Given the description of an element on the screen output the (x, y) to click on. 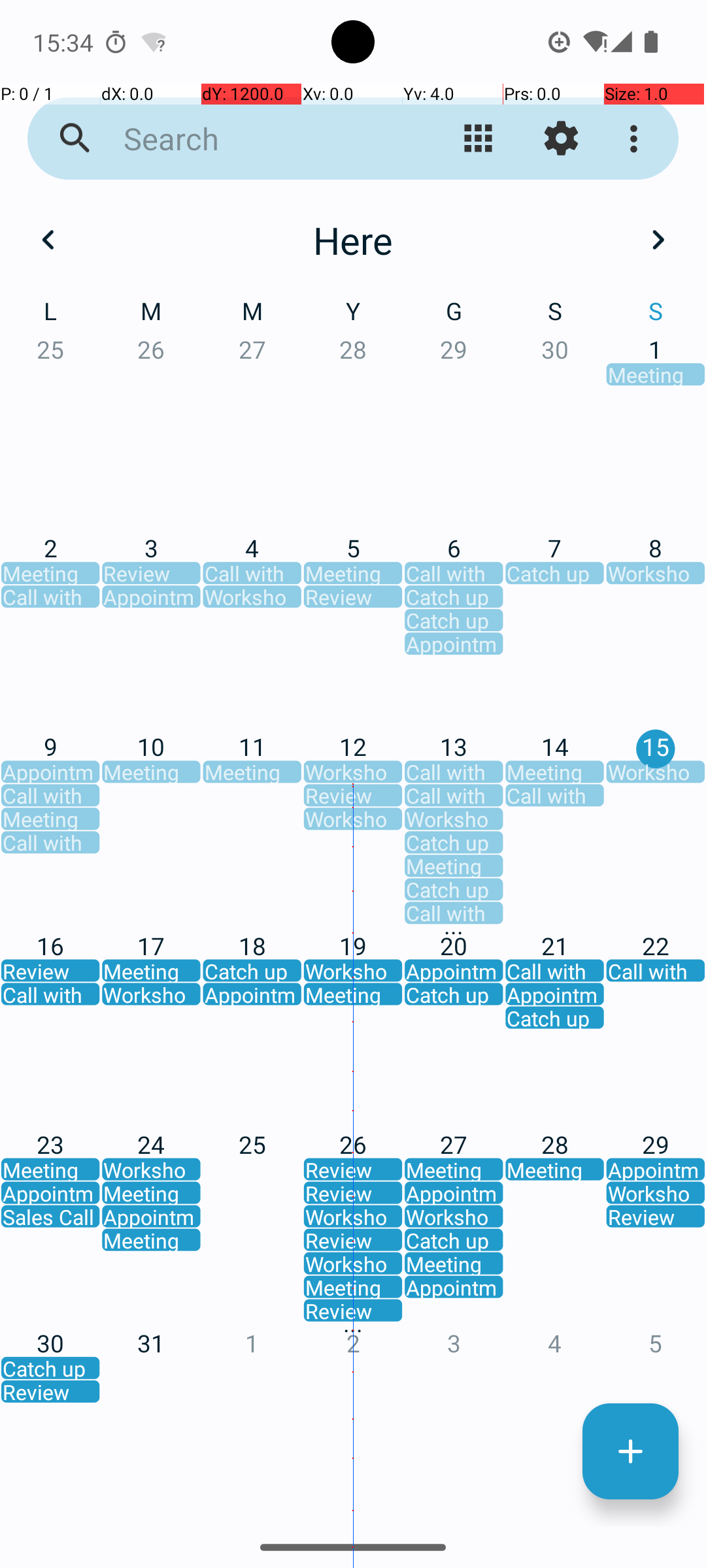
Kemmañ ar gwel Element type: android.widget.Button (477, 138)
Darvoud nevez Element type: android.widget.ImageButton (630, 1451)
Here Element type: android.widget.TextView (352, 239)
